Given the description of an element on the screen output the (x, y) to click on. 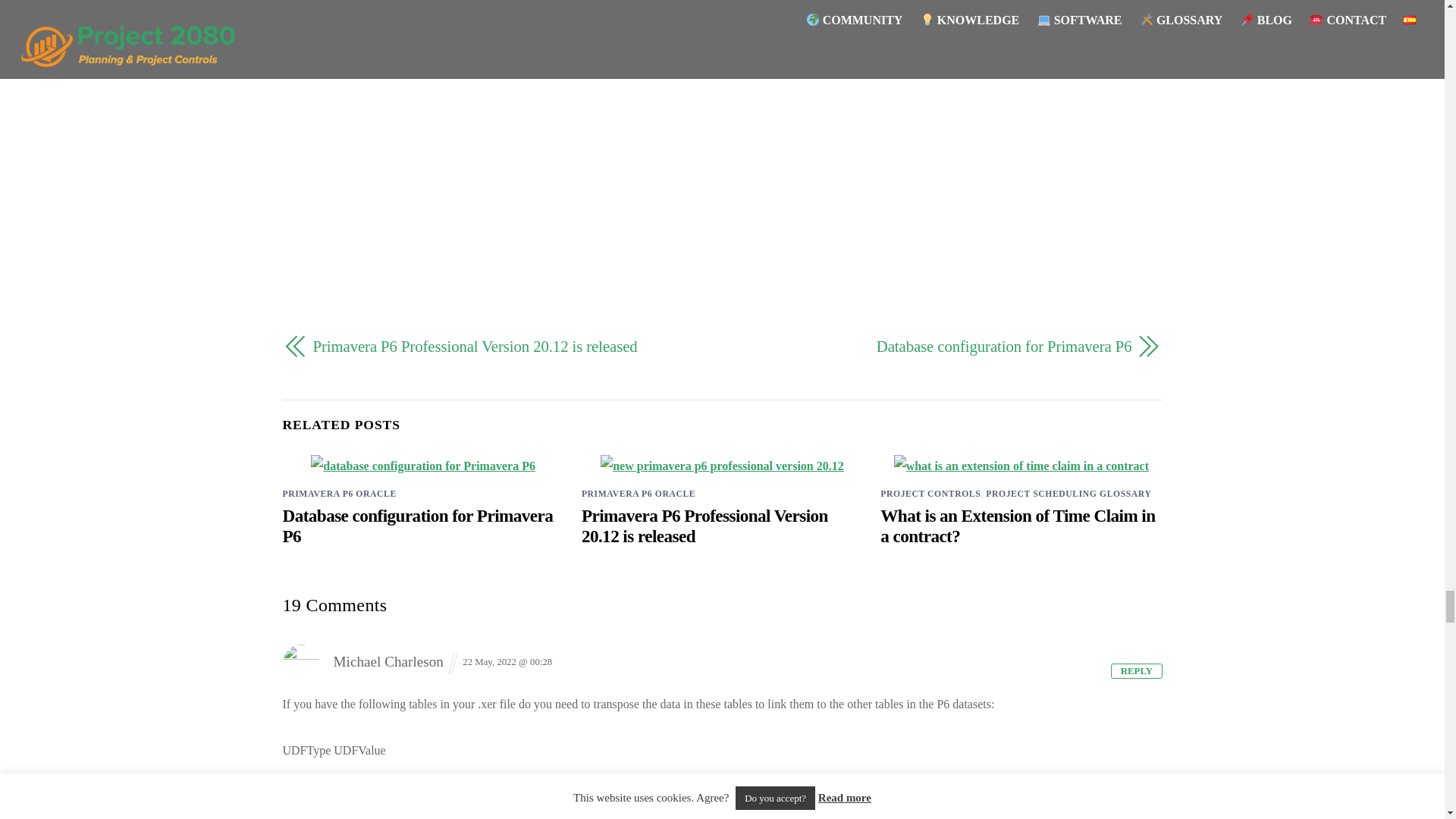
What is an Extension of Time Claim in a contract? (1017, 526)
Primavera P6 Professional Version 20.12 is released (704, 526)
Database configuration for Primavera P6 (417, 526)
